Given the description of an element on the screen output the (x, y) to click on. 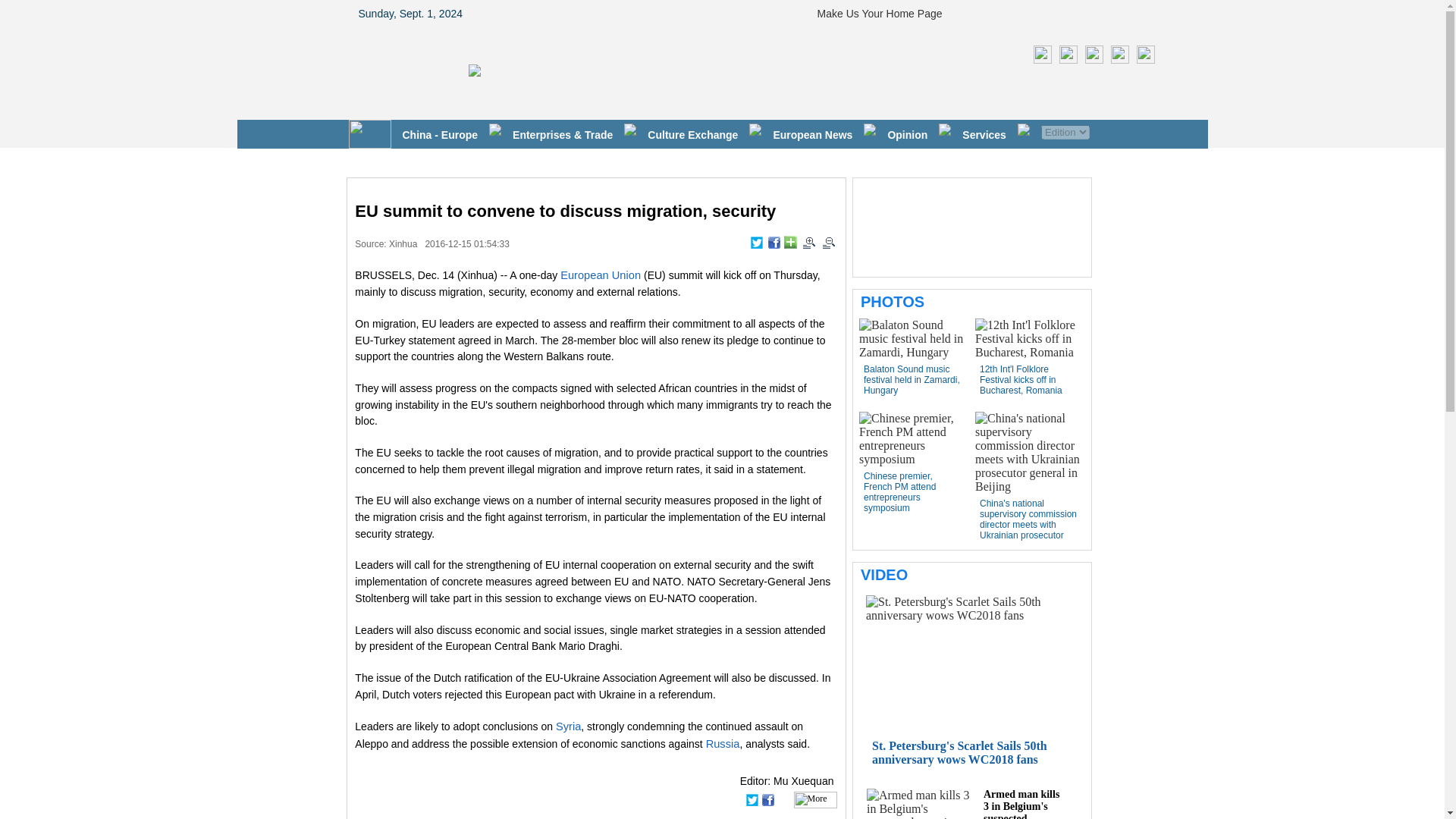
Russia (722, 743)
More (815, 799)
European Union (600, 275)
More (790, 241)
Syria (568, 726)
